Given the description of an element on the screen output the (x, y) to click on. 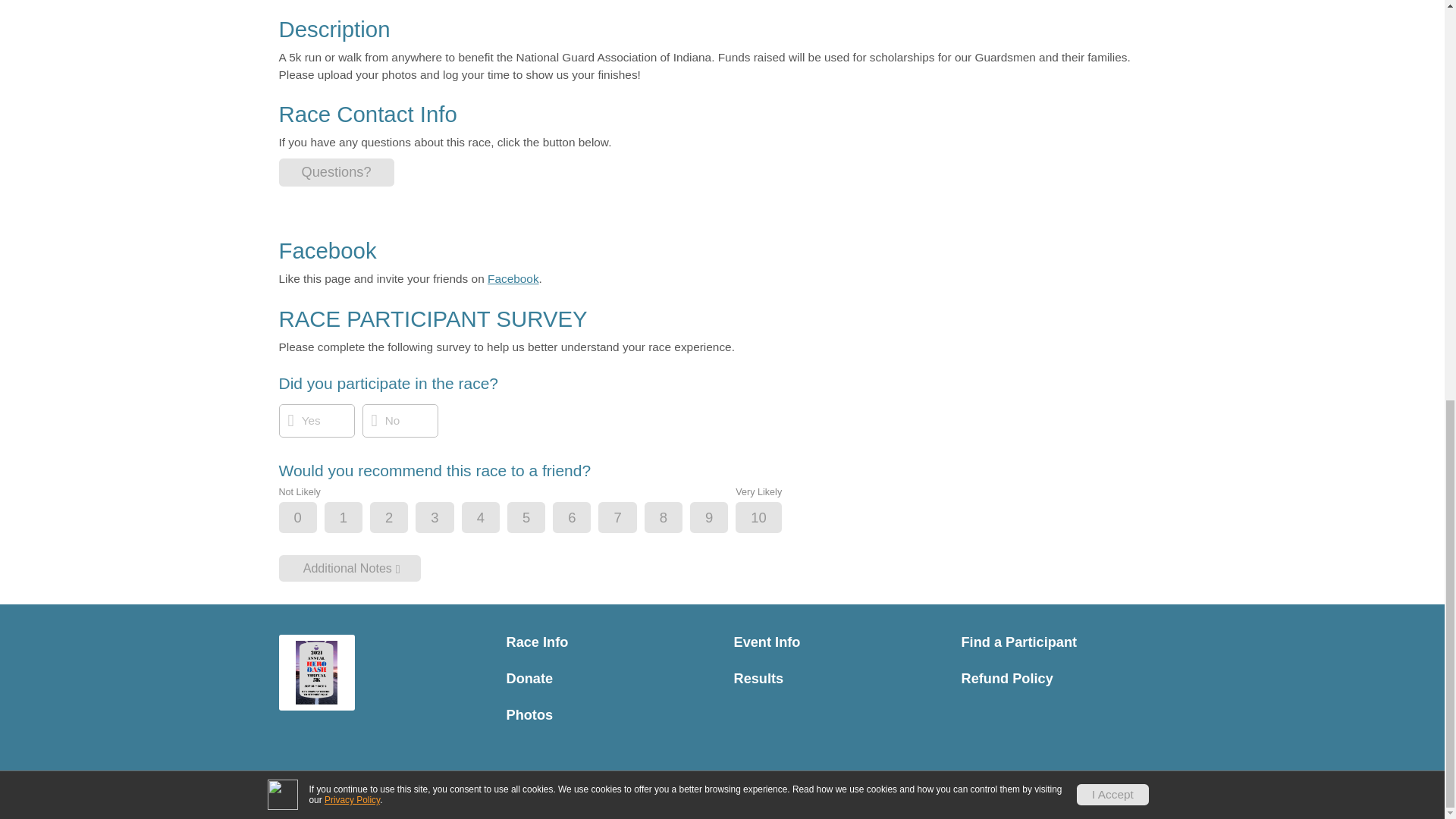
7 (629, 518)
Facebook (512, 278)
10 (770, 518)
Questions? (336, 172)
1 (355, 518)
6 (584, 518)
5 (539, 518)
8 (675, 518)
2 (401, 518)
Donate (608, 678)
